Given the description of an element on the screen output the (x, y) to click on. 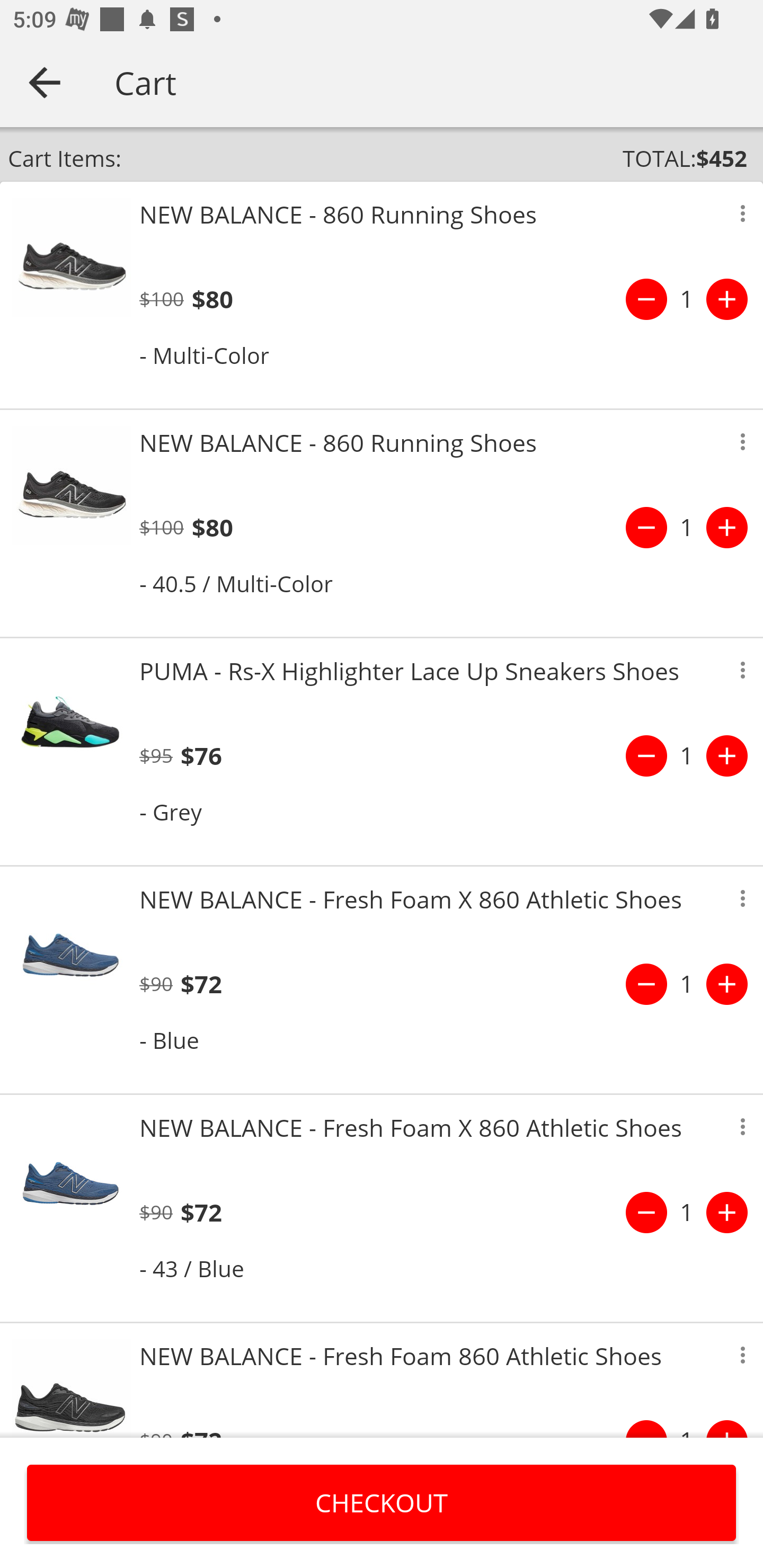
Navigate up (44, 82)
1 (686, 299)
1 (686, 527)
1 (686, 755)
1 (686, 984)
1 (686, 1211)
CHECKOUT (381, 1502)
